Given the description of an element on the screen output the (x, y) to click on. 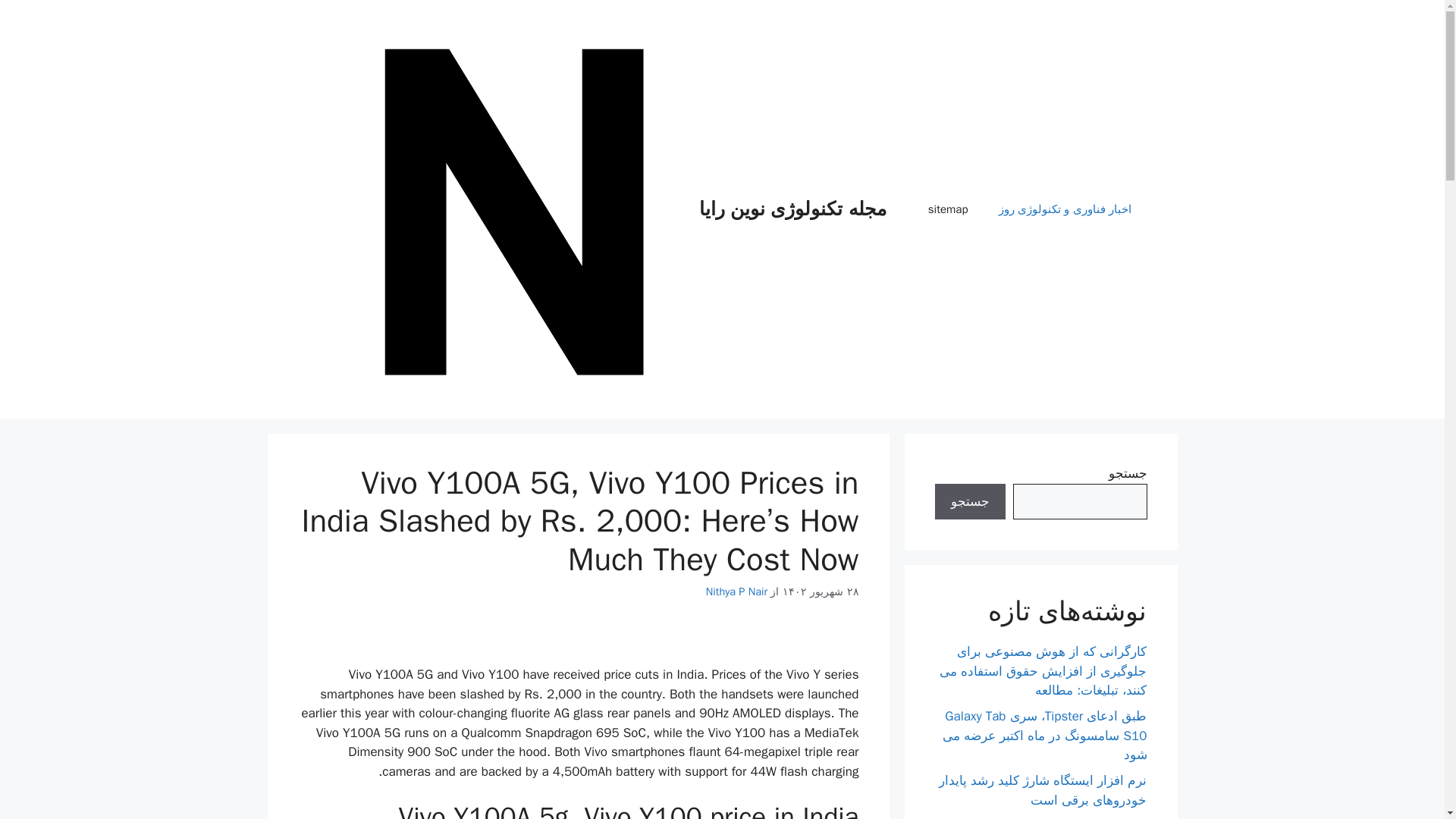
Nithya P Nair (736, 591)
sitemap (948, 208)
